Given the description of an element on the screen output the (x, y) to click on. 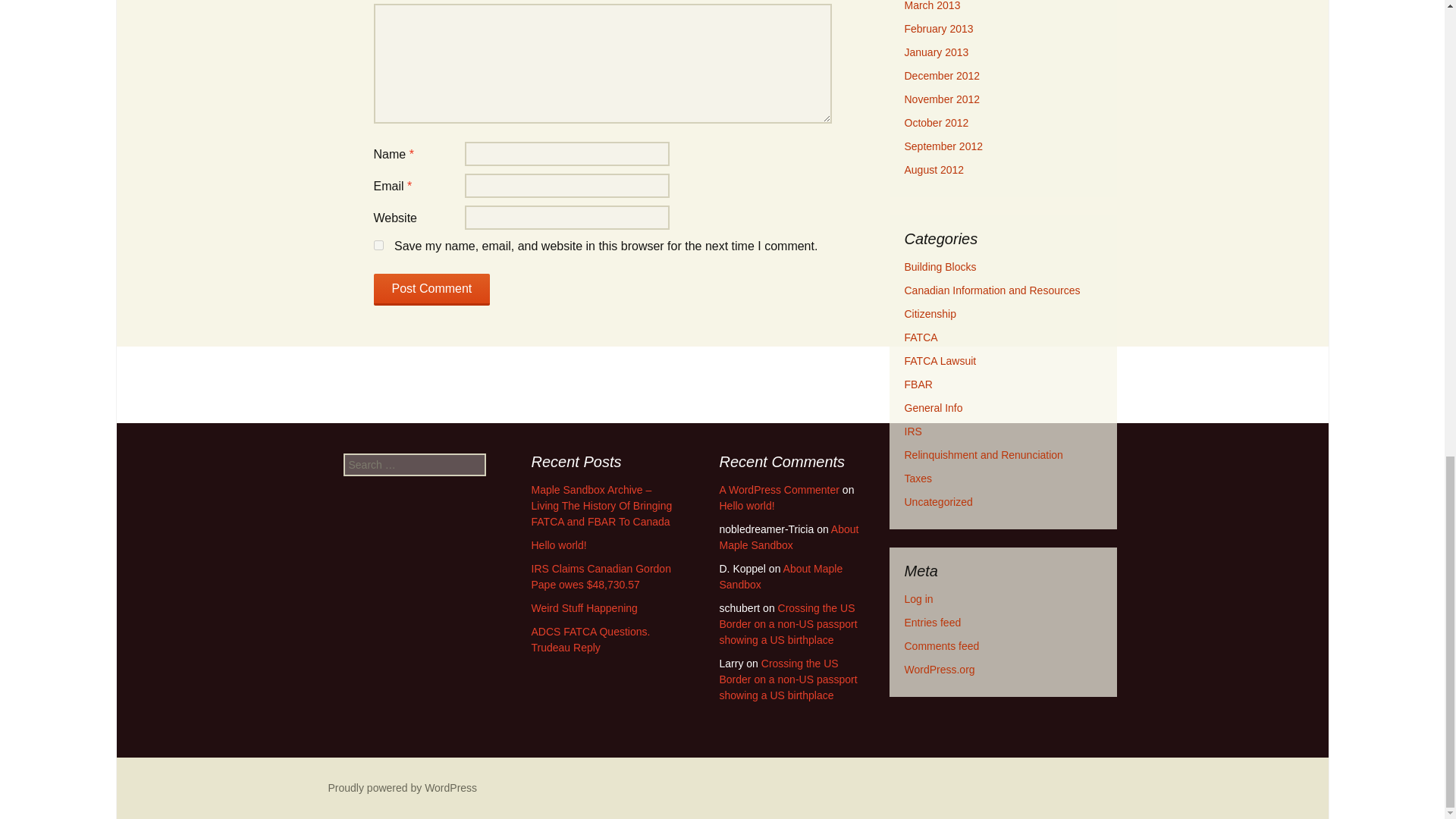
yes (377, 245)
Post Comment (430, 289)
Post Comment (430, 289)
